Given the description of an element on the screen output the (x, y) to click on. 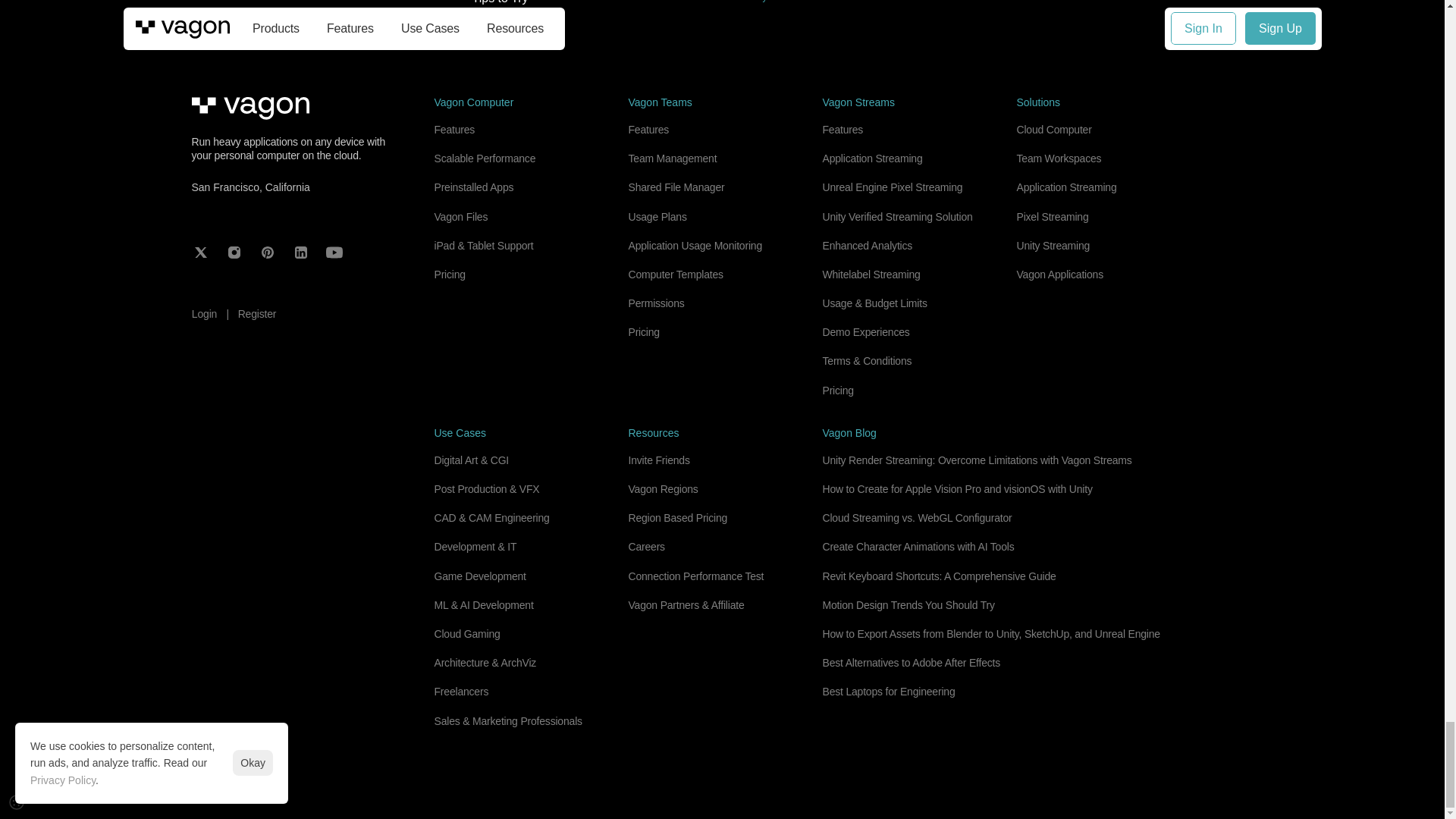
Usage Plans (656, 216)
Permissions (655, 303)
Application Usage Monitoring (694, 245)
Pricing (311, 6)
Computer Templates (643, 331)
Pricing (857, 6)
Register (674, 274)
Login (1131, 6)
Features (448, 274)
Team Management (257, 314)
Shared File Manager (585, 18)
